Given the description of an element on the screen output the (x, y) to click on. 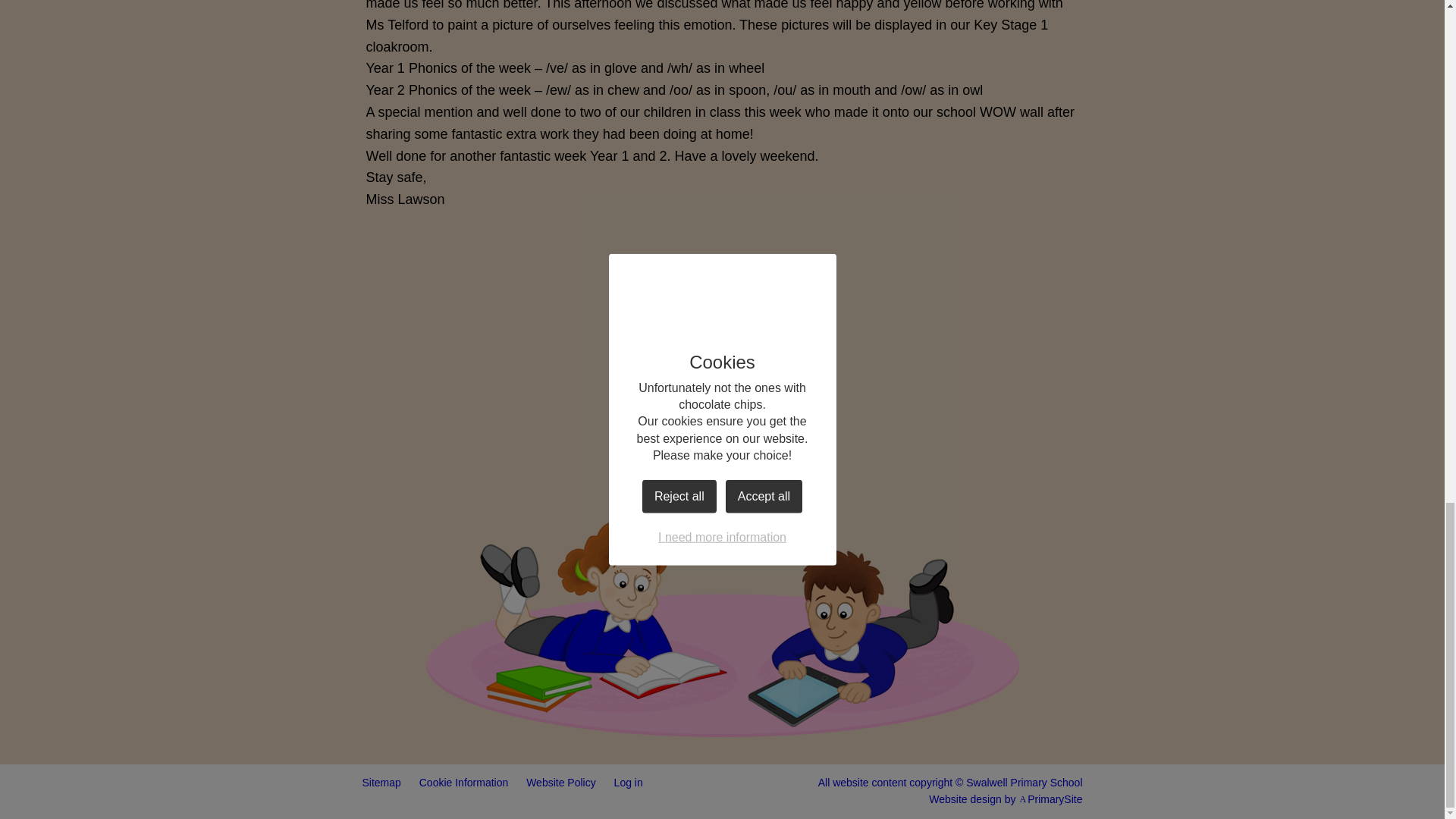
View large version of image (994, 428)
View large version of image (812, 428)
View large version of image (448, 428)
View large version of image (812, 288)
View large version of image (994, 288)
View large version of image (448, 288)
View large version of image (630, 288)
View large version of image (630, 428)
